Given the description of an element on the screen output the (x, y) to click on. 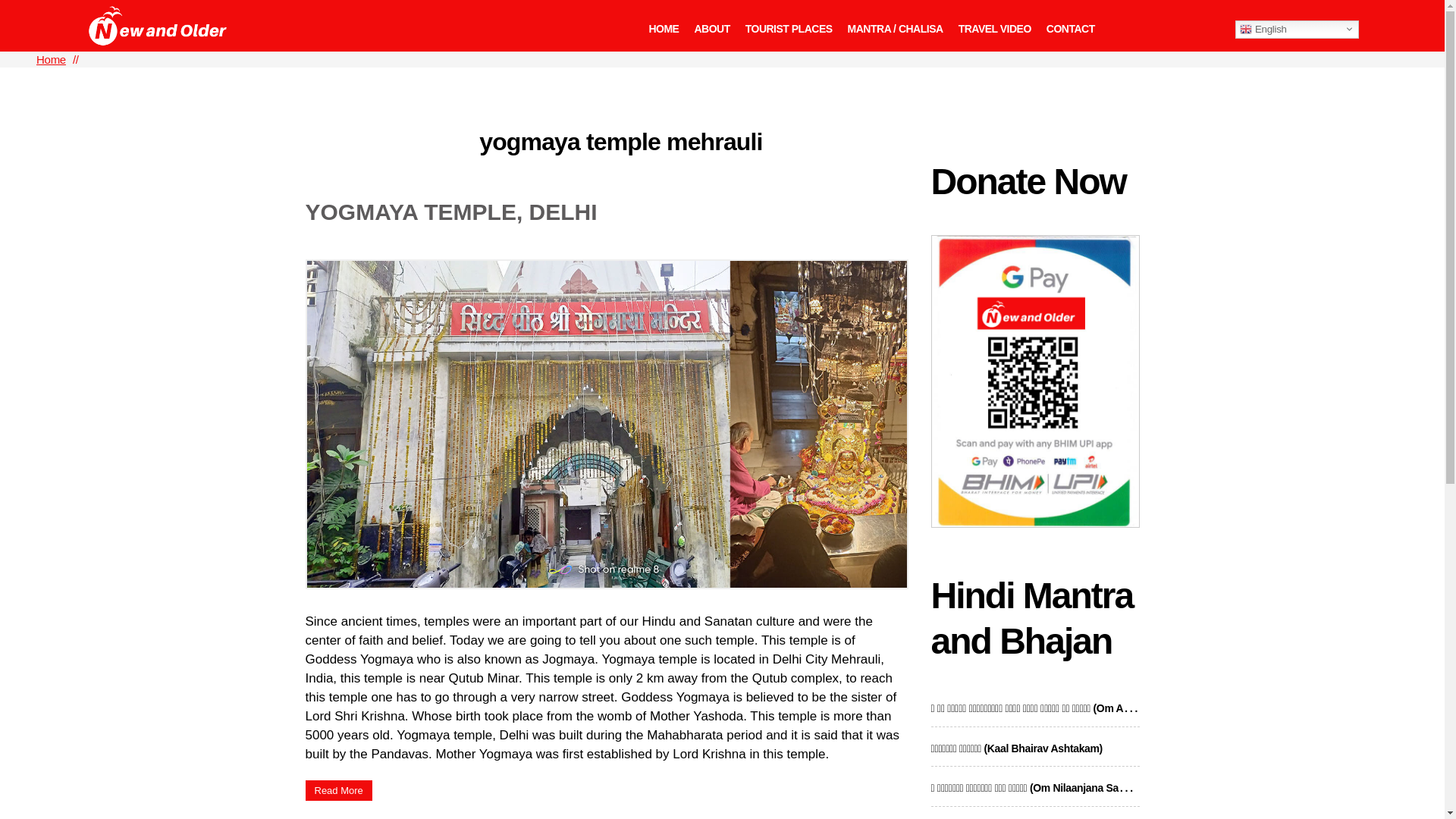
TRAVEL VIDEO (994, 29)
ABOUT (711, 29)
English (1296, 29)
Home (50, 59)
CONTACT (1070, 29)
TOURIST PLACES (788, 29)
YOGMAYA TEMPLE, DELHI (450, 211)
HOME (662, 29)
